Given the description of an element on the screen output the (x, y) to click on. 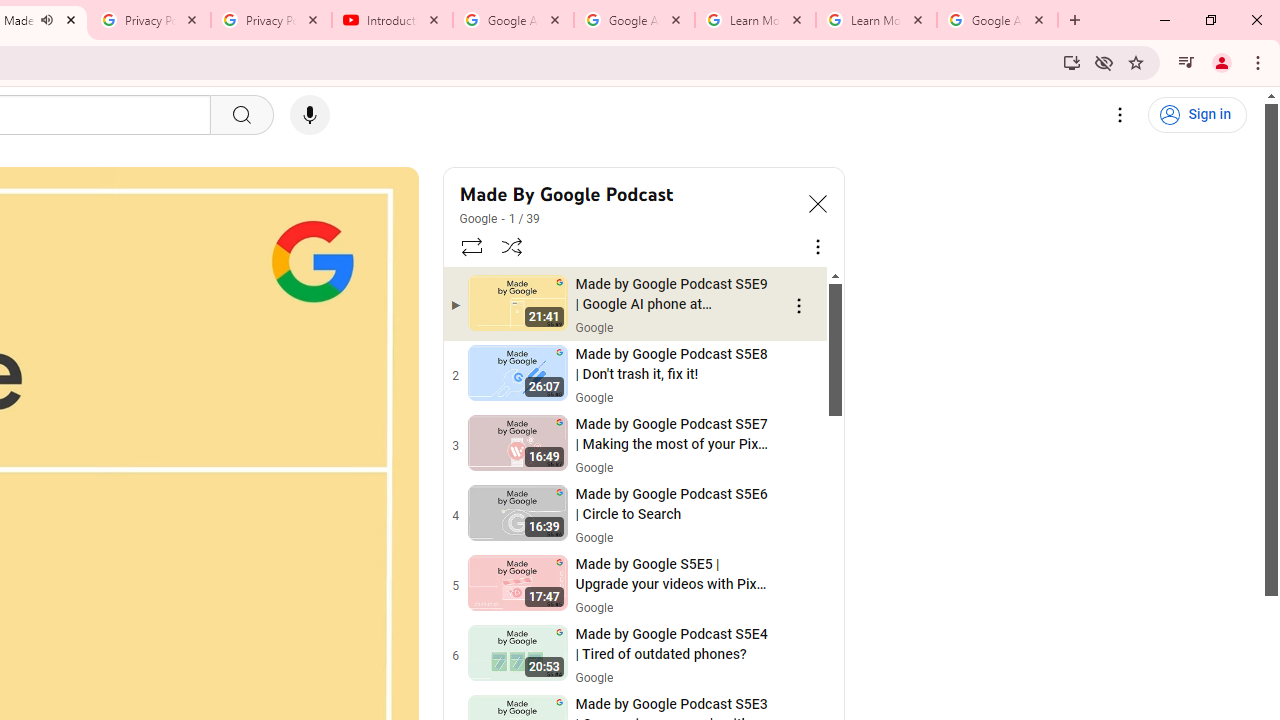
Introduction | Google Privacy Policy - YouTube (392, 20)
Search with your voice (309, 115)
Install YouTube (1071, 62)
Shuffle playlist (511, 246)
Google Account Help (513, 20)
Google Account Help (634, 20)
